Given the description of an element on the screen output the (x, y) to click on. 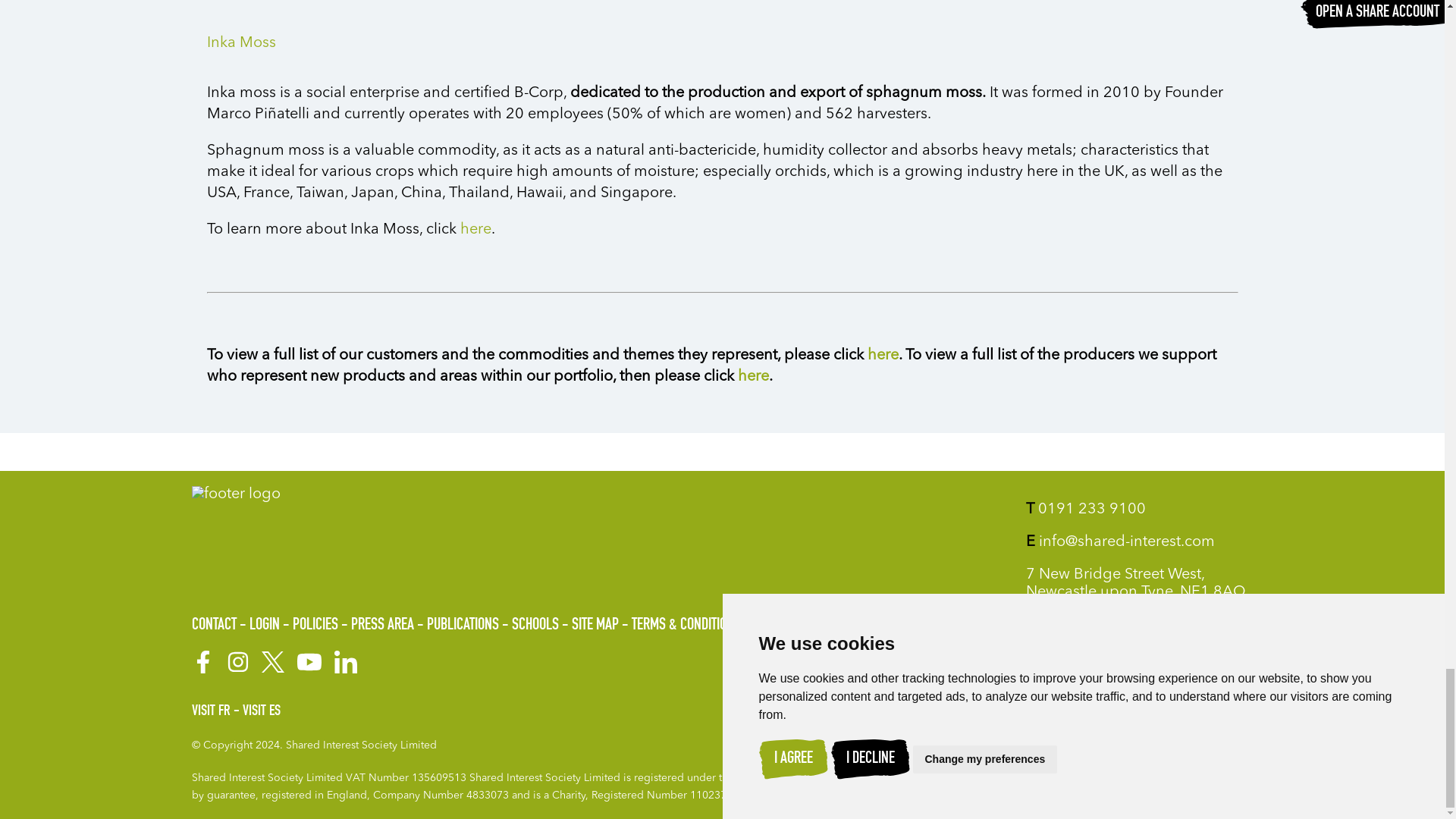
Follow us on LinkedIn (344, 661)
Follow us on Instagram (236, 661)
Follow us on Facebook (202, 661)
Follow us on Youtube (308, 661)
